Given the description of an element on the screen output the (x, y) to click on. 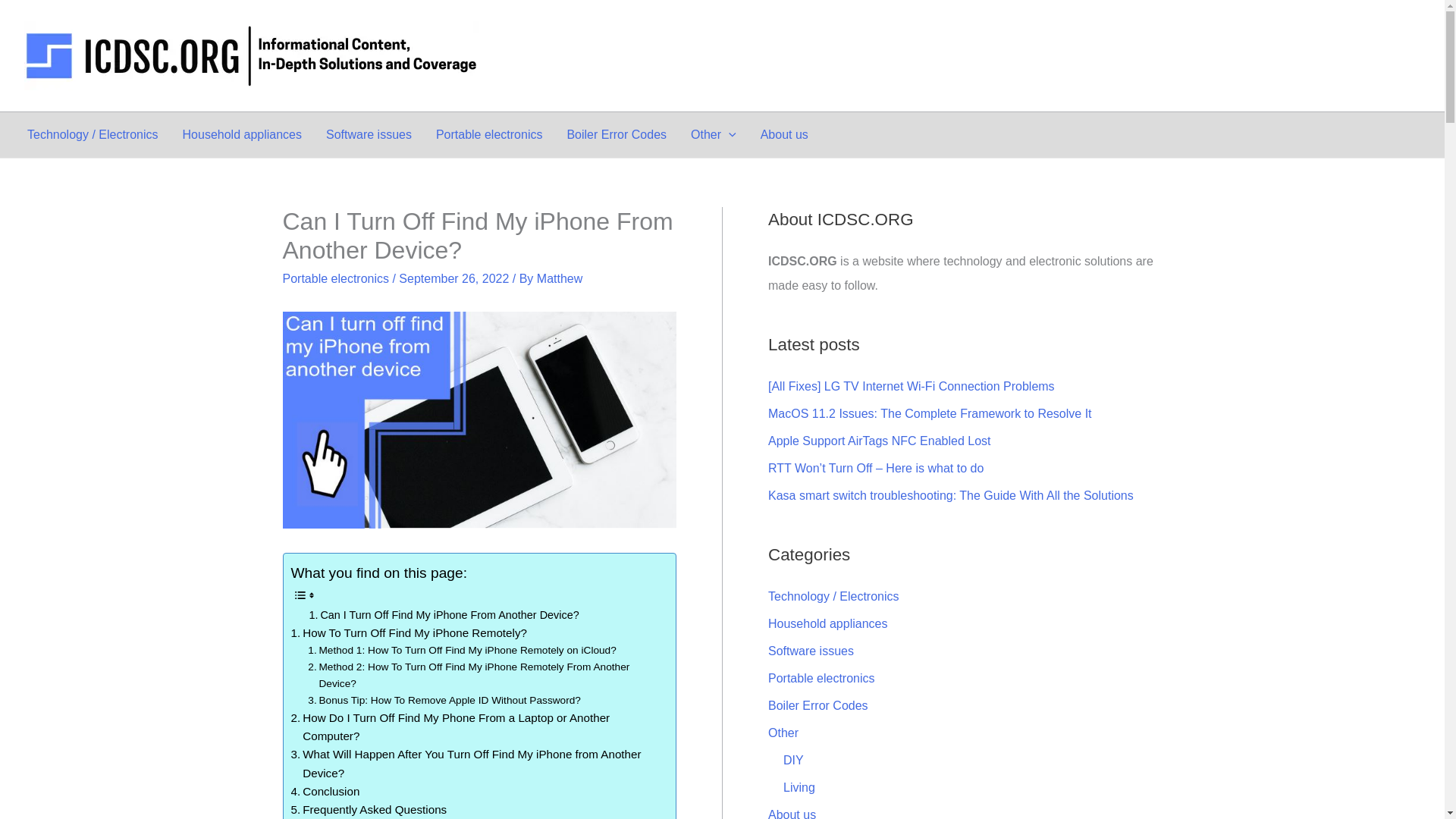
Bonus Tip: How To Remove Apple ID Without Password? (443, 700)
Portable electronics (488, 135)
Software issues (368, 135)
Conclusion (325, 791)
Conclusion (325, 791)
View all posts by Matthew (559, 278)
How To Turn Off Find My iPhone Remotely? (409, 633)
Portable electronics (335, 278)
